Given the description of an element on the screen output the (x, y) to click on. 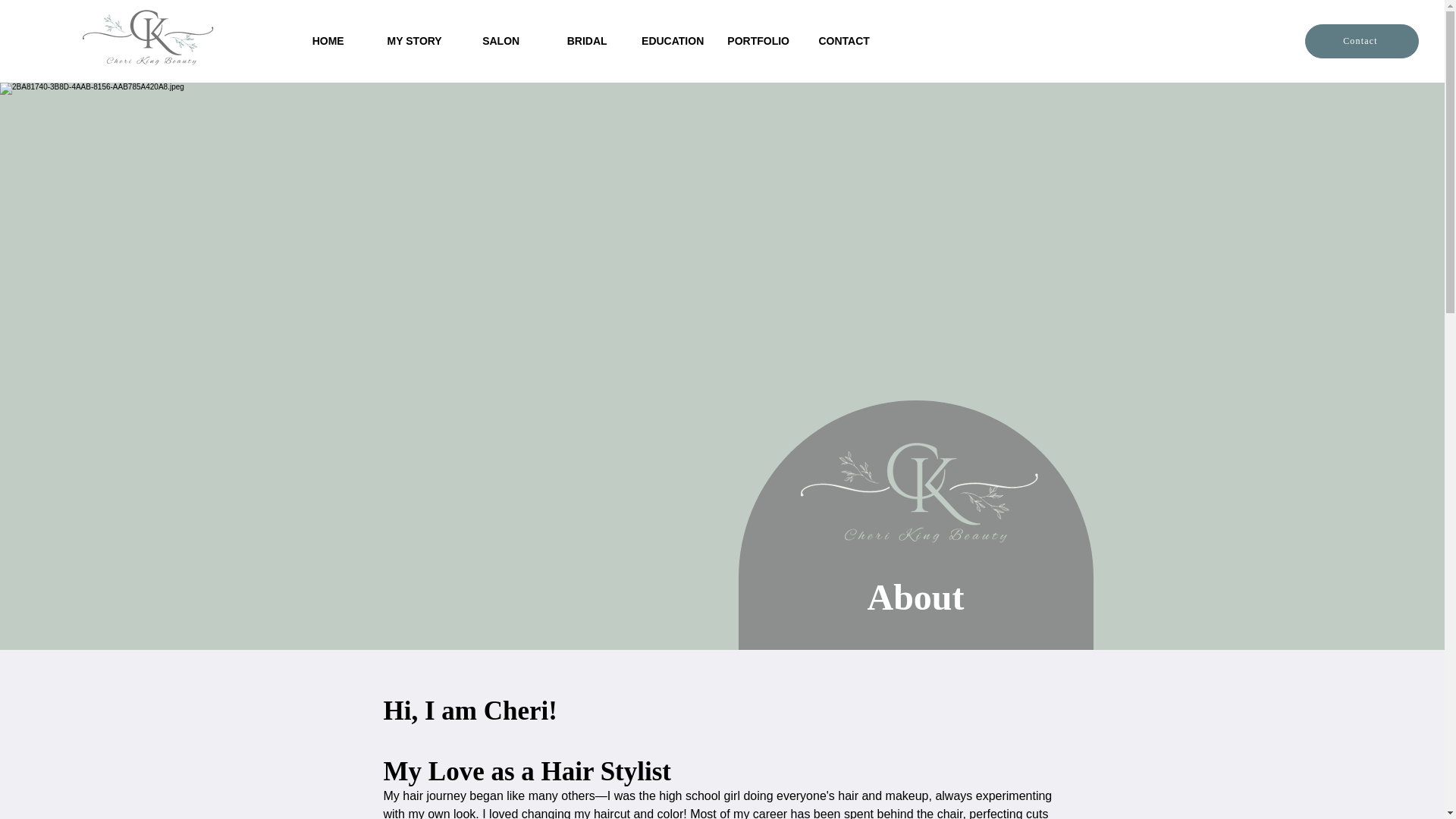
CONTACT (844, 40)
HOME (328, 40)
PORTFOLIO (759, 40)
BRIDAL (587, 40)
EDUCATION (673, 40)
SALON (501, 40)
MY STORY (414, 40)
Contact (1361, 41)
